Given the description of an element on the screen output the (x, y) to click on. 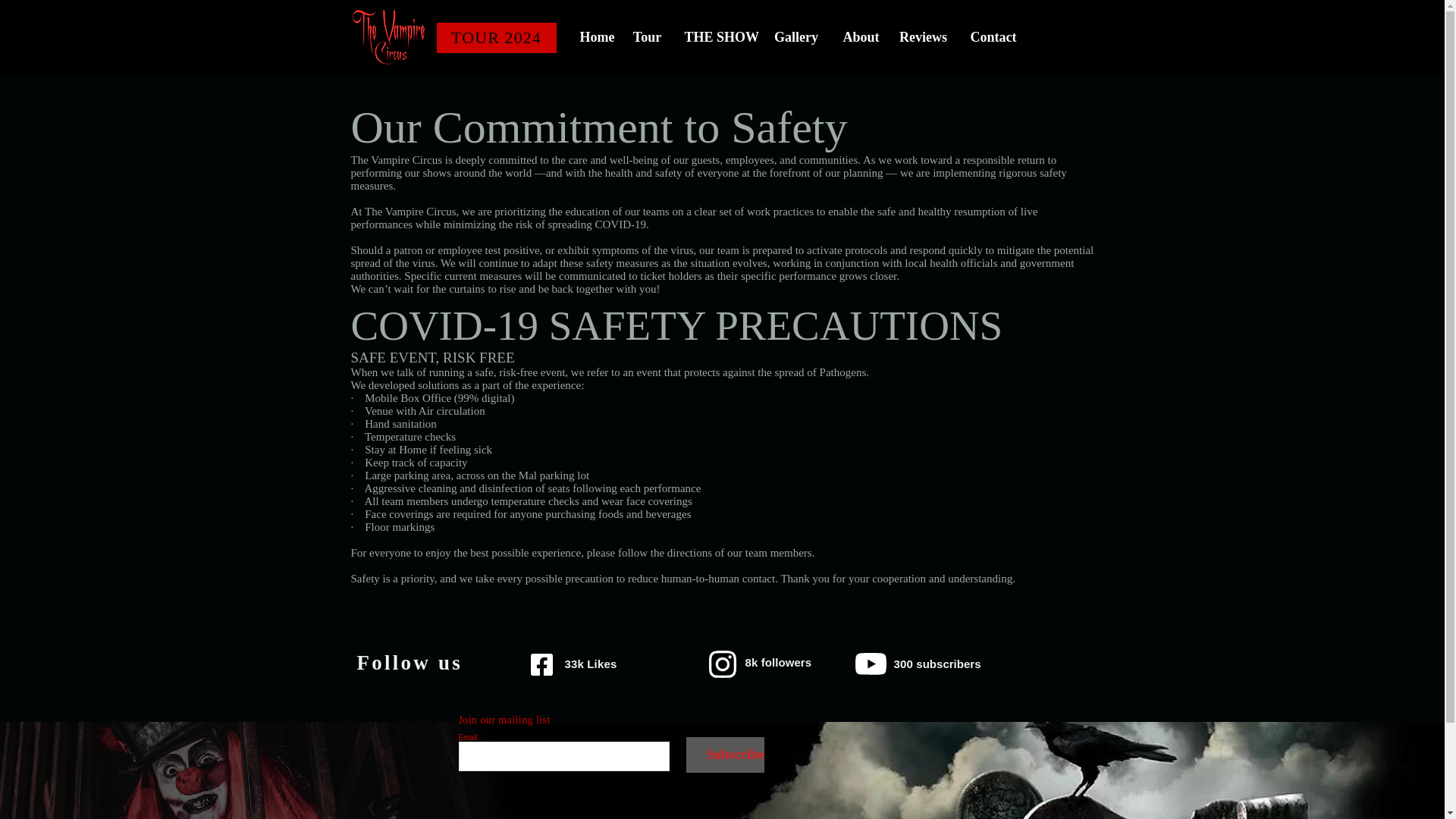
Tour (646, 37)
Reviews (922, 37)
Contact (992, 37)
Subscribe (723, 755)
THE SHOW (716, 37)
Gallery (796, 37)
TOUR 2024 (496, 37)
About (858, 37)
Home (595, 37)
